Given the description of an element on the screen output the (x, y) to click on. 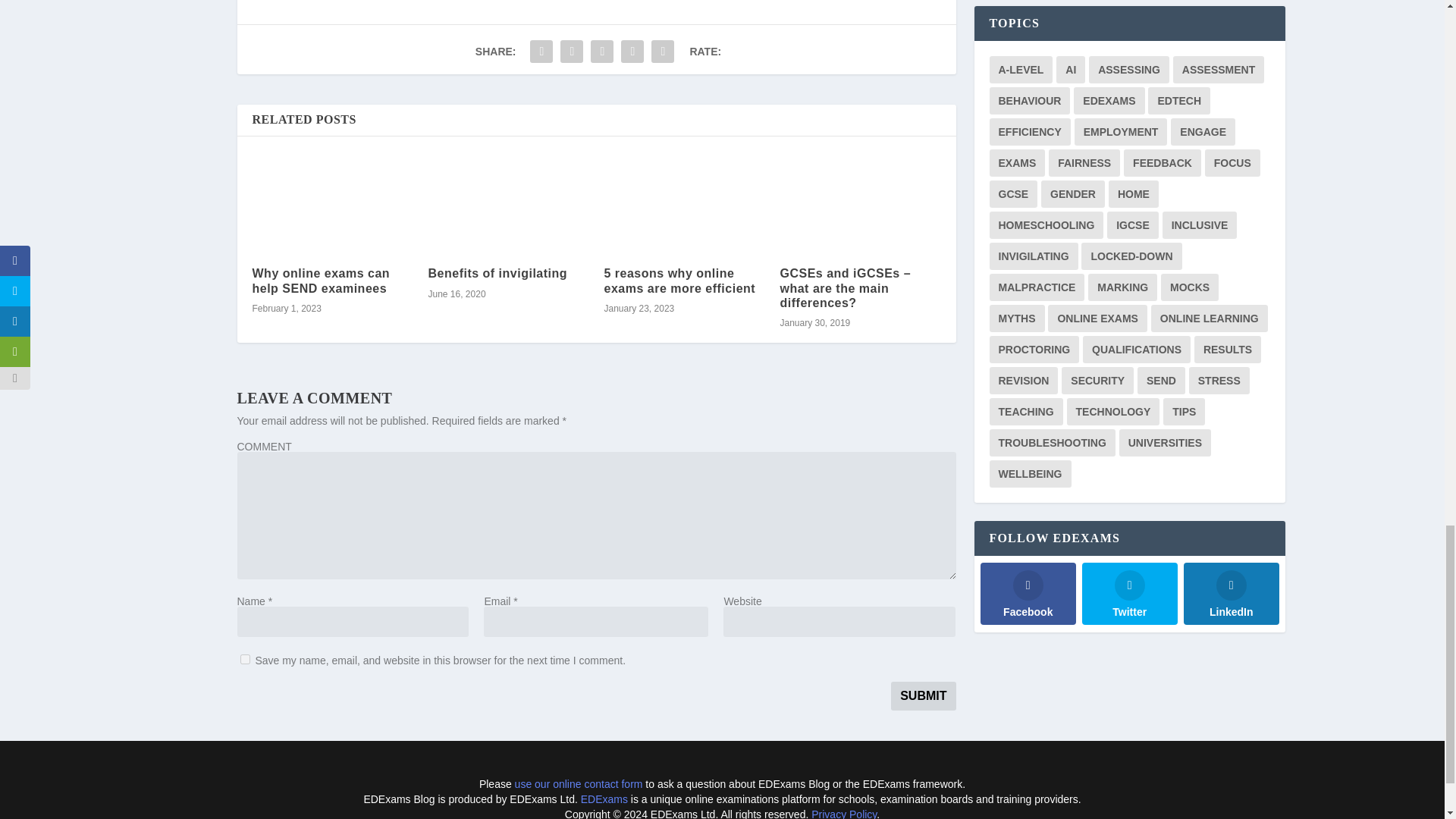
Benefits of invigilating (497, 273)
Submit (923, 695)
Share "Online exams v traditional hall exams" via Facebook (540, 51)
Share "Online exams v traditional hall exams" via Print (662, 51)
Share "Online exams v traditional hall exams" via Twitter (571, 51)
5 reasons why online exams are more efficient (679, 280)
Share "Online exams v traditional hall exams" via LinkedIn (601, 51)
Share "Online exams v traditional hall exams" via Email (632, 51)
Submit (923, 695)
Why online exams can help SEND examinees (320, 280)
yes (244, 659)
